Given the description of an element on the screen output the (x, y) to click on. 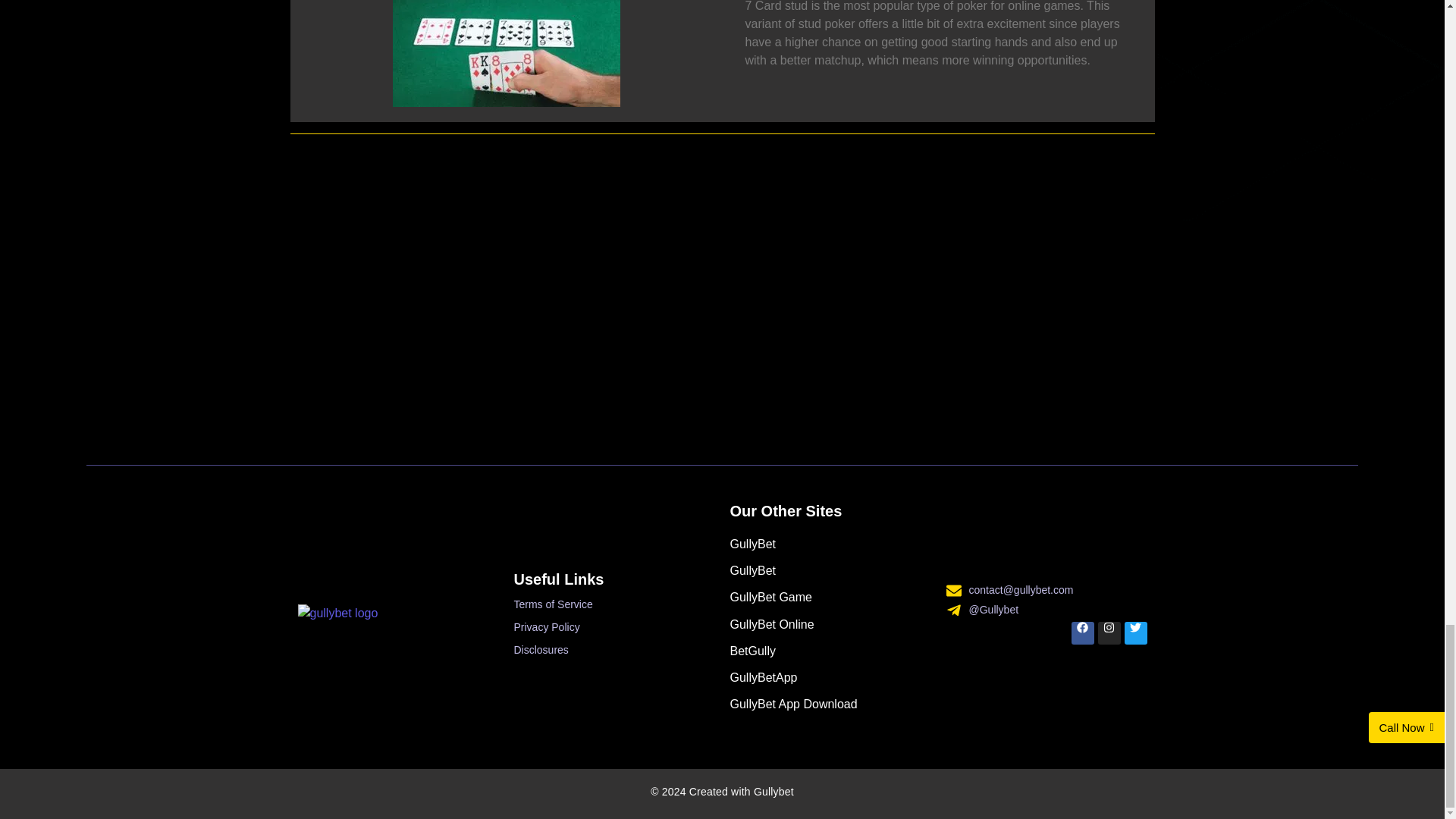
gullybet-logo (337, 613)
